Given the description of an element on the screen output the (x, y) to click on. 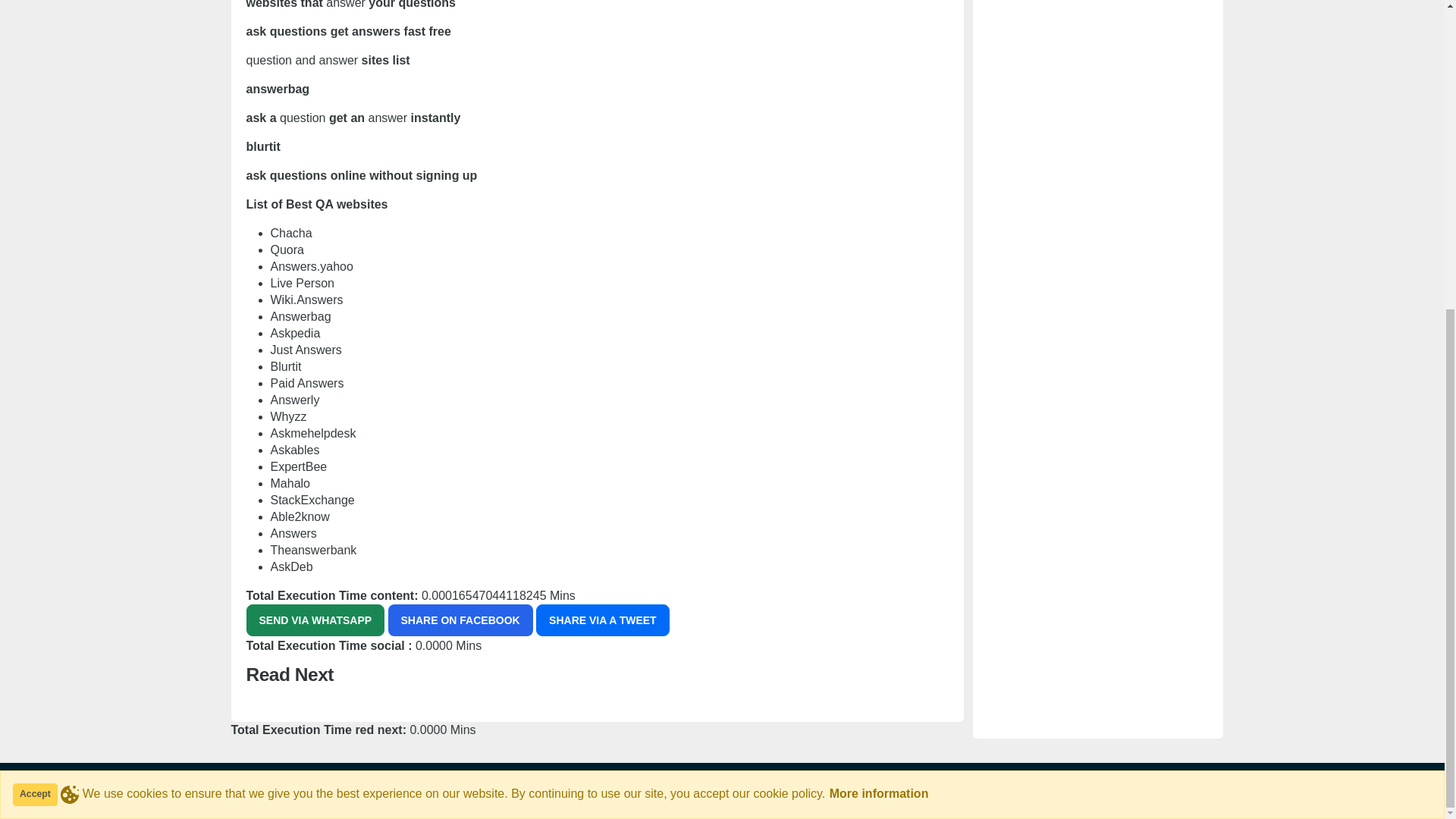
Accept (35, 303)
Gamba Net developers (307, 794)
More information (879, 303)
SHARE ON FACEBOOK (460, 620)
SEND VIA WHATSAPP (315, 620)
SHARE VIA A TWEET (602, 620)
About (1100, 794)
